Given the description of an element on the screen output the (x, y) to click on. 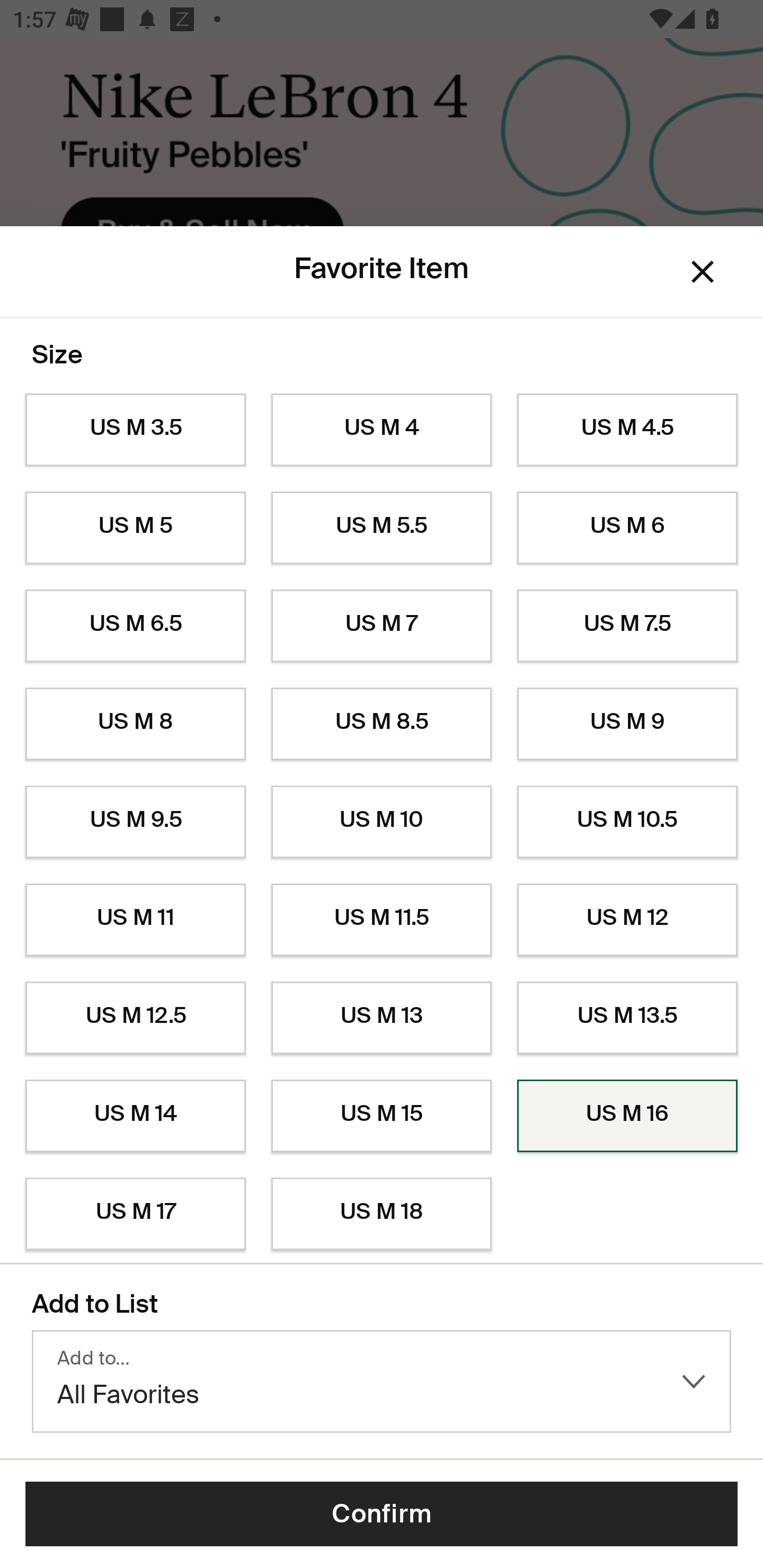
Dismiss (702, 271)
US M 3.5 (135, 430)
US M 4 (381, 430)
US M 4.5 (627, 430)
US M 5 (135, 527)
US M 5.5 (381, 527)
US M 6 (627, 527)
US M 6.5 (135, 626)
US M 7 (381, 626)
US M 7.5 (627, 626)
US M 8 (135, 724)
US M 8.5 (381, 724)
US M 9 (627, 724)
US M 9.5 (135, 822)
US M 10 (381, 822)
US M 10.5 (627, 822)
US M 11 (135, 919)
US M 11.5 (381, 919)
US M 12 (627, 919)
US M 12.5 (135, 1018)
US M 13 (381, 1018)
US M 13.5 (627, 1018)
US M 14 (135, 1116)
US M 15 (381, 1116)
US M 16 (627, 1116)
US M 17 (135, 1214)
US M 18 (381, 1214)
Add to… All Favorites (381, 1381)
Confirm (381, 1513)
